Given the description of an element on the screen output the (x, y) to click on. 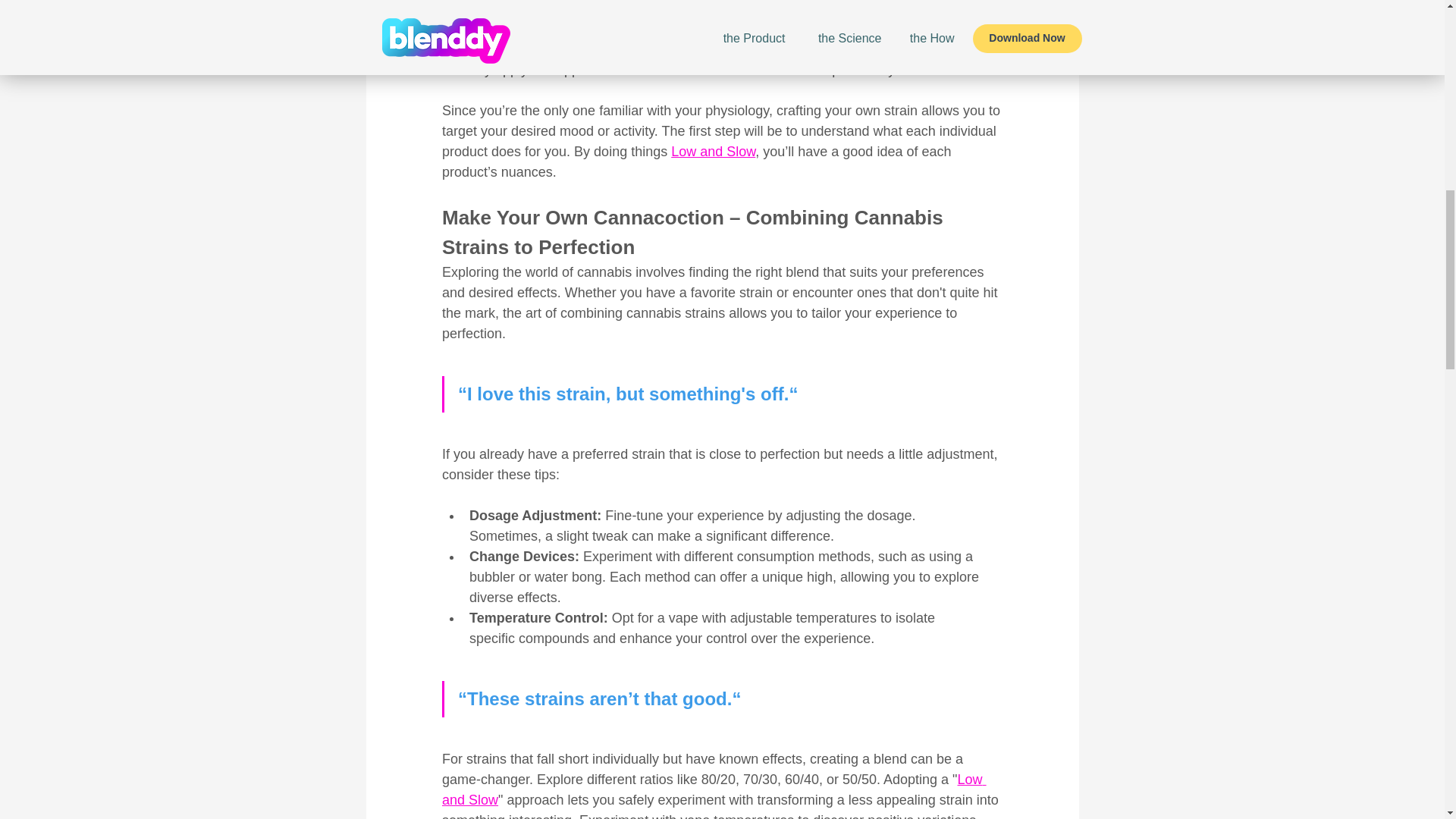
Low and Slow (713, 789)
Low and Slow (713, 151)
